Given the description of an element on the screen output the (x, y) to click on. 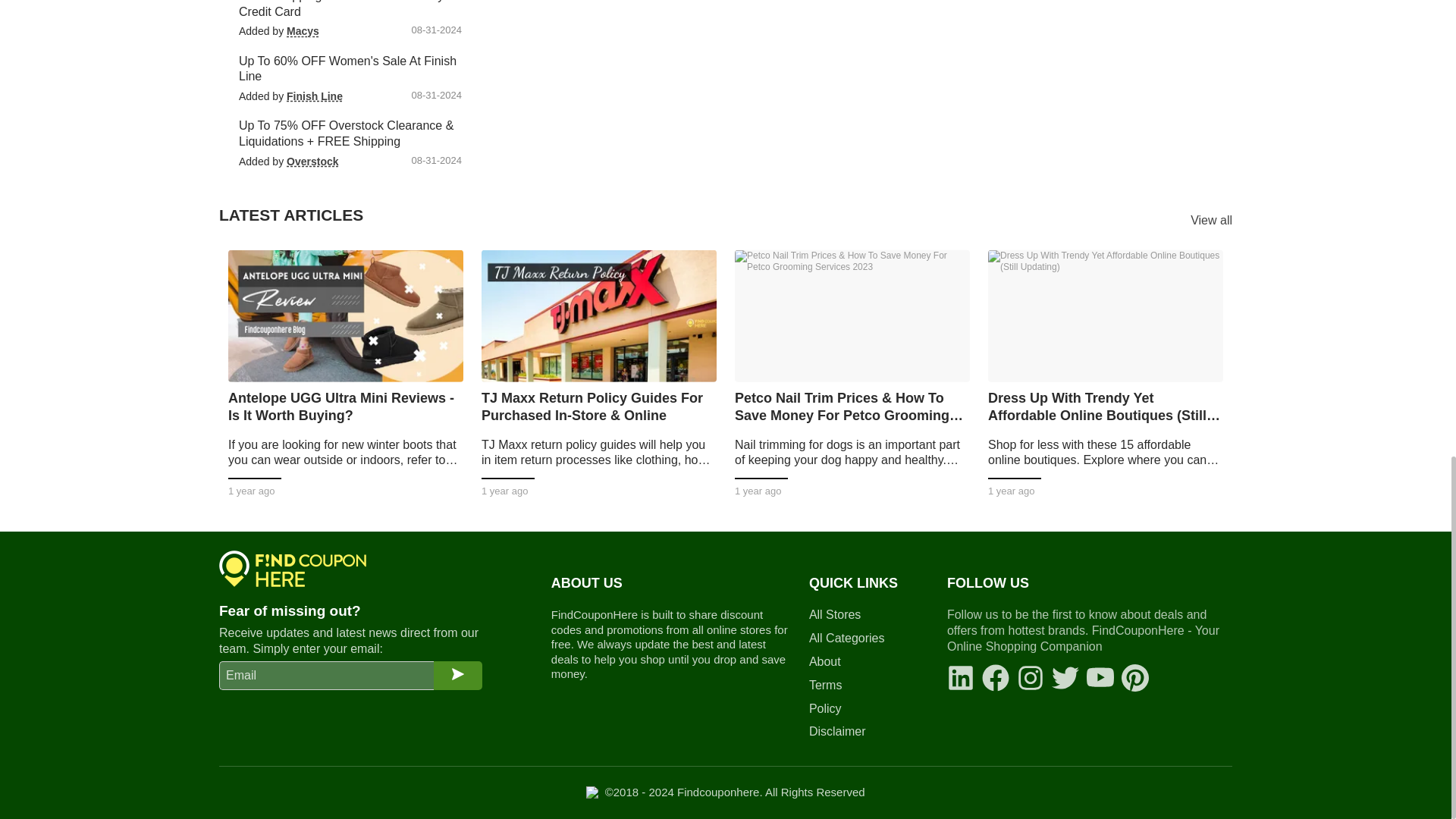
DMCA.com Protection Status (592, 792)
